Given the description of an element on the screen output the (x, y) to click on. 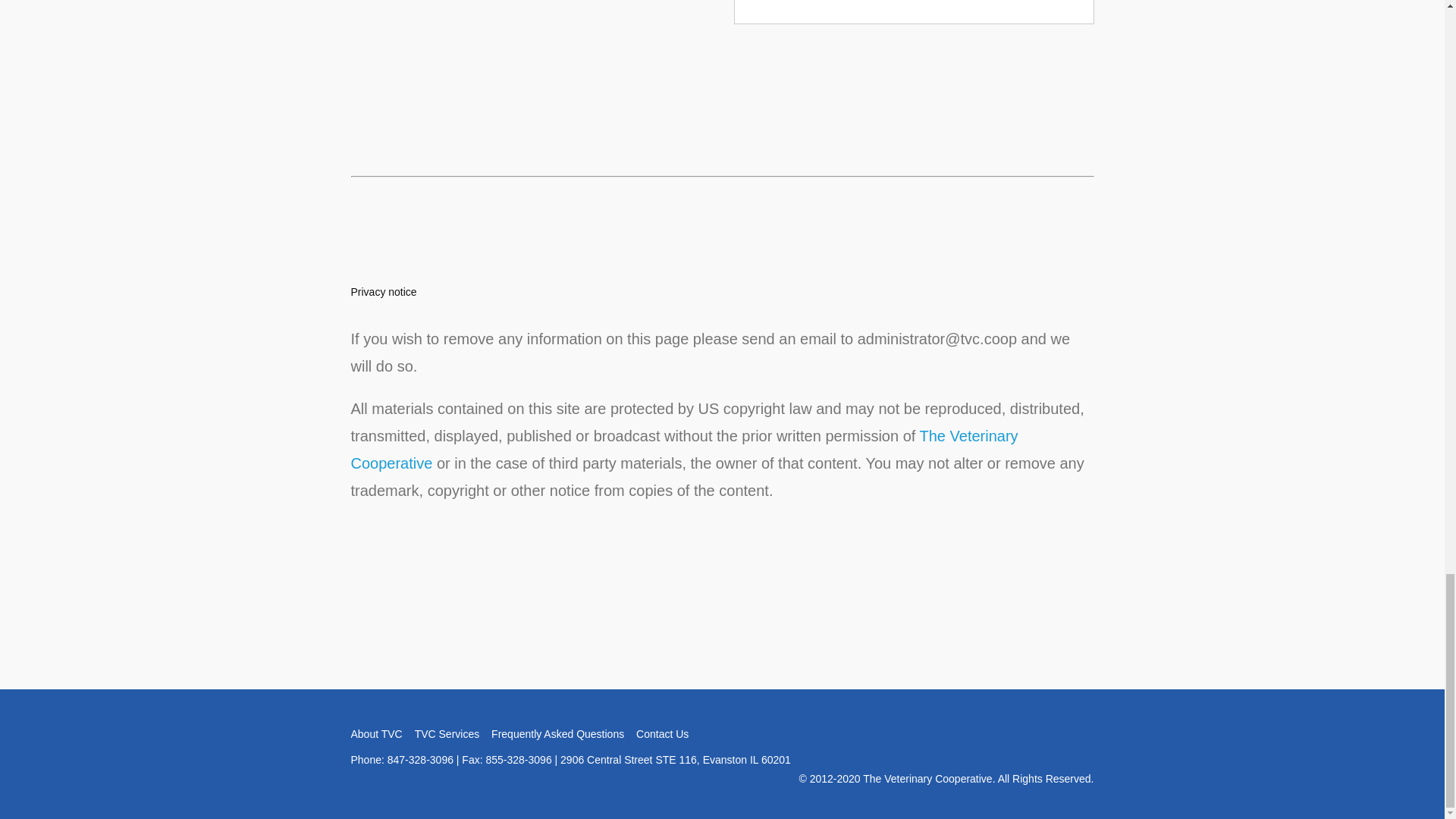
The Veterinary Cooperative (683, 449)
About TVC (375, 733)
TVC Services (447, 733)
Contact Us (662, 733)
Frequently Asked Questions (558, 733)
